Given the description of an element on the screen output the (x, y) to click on. 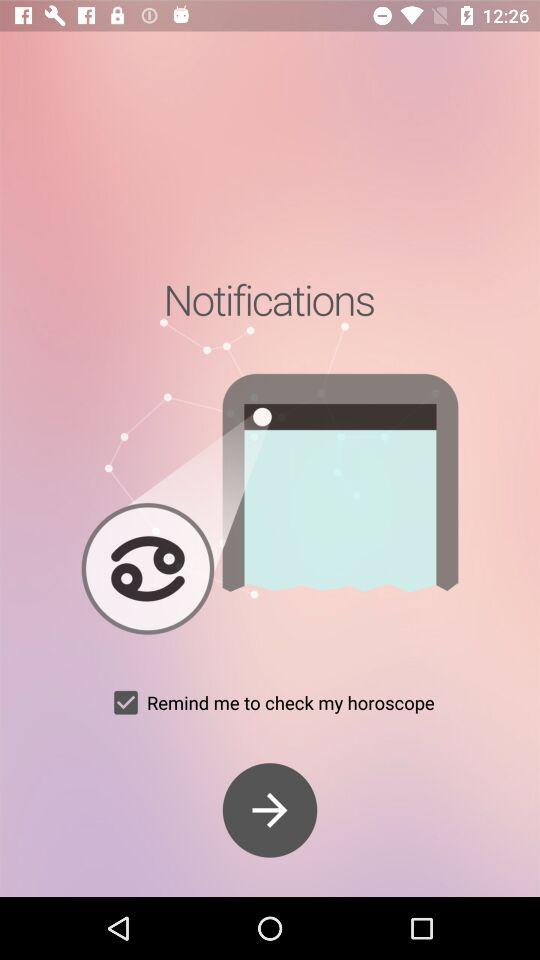
tap the icon below the remind me to (269, 810)
